Given the description of an element on the screen output the (x, y) to click on. 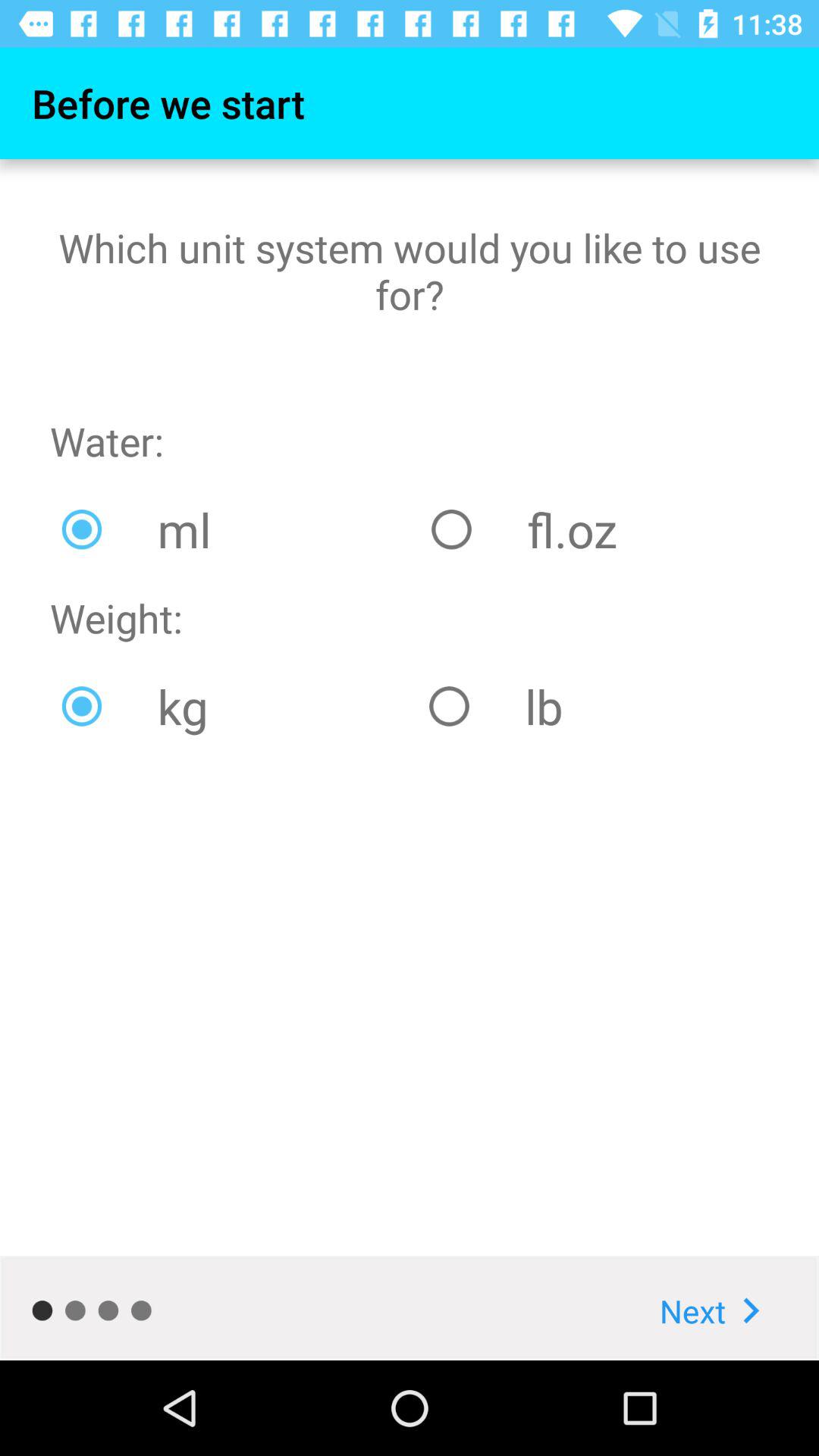
launch item next to the lb item (233, 706)
